Given the description of an element on the screen output the (x, y) to click on. 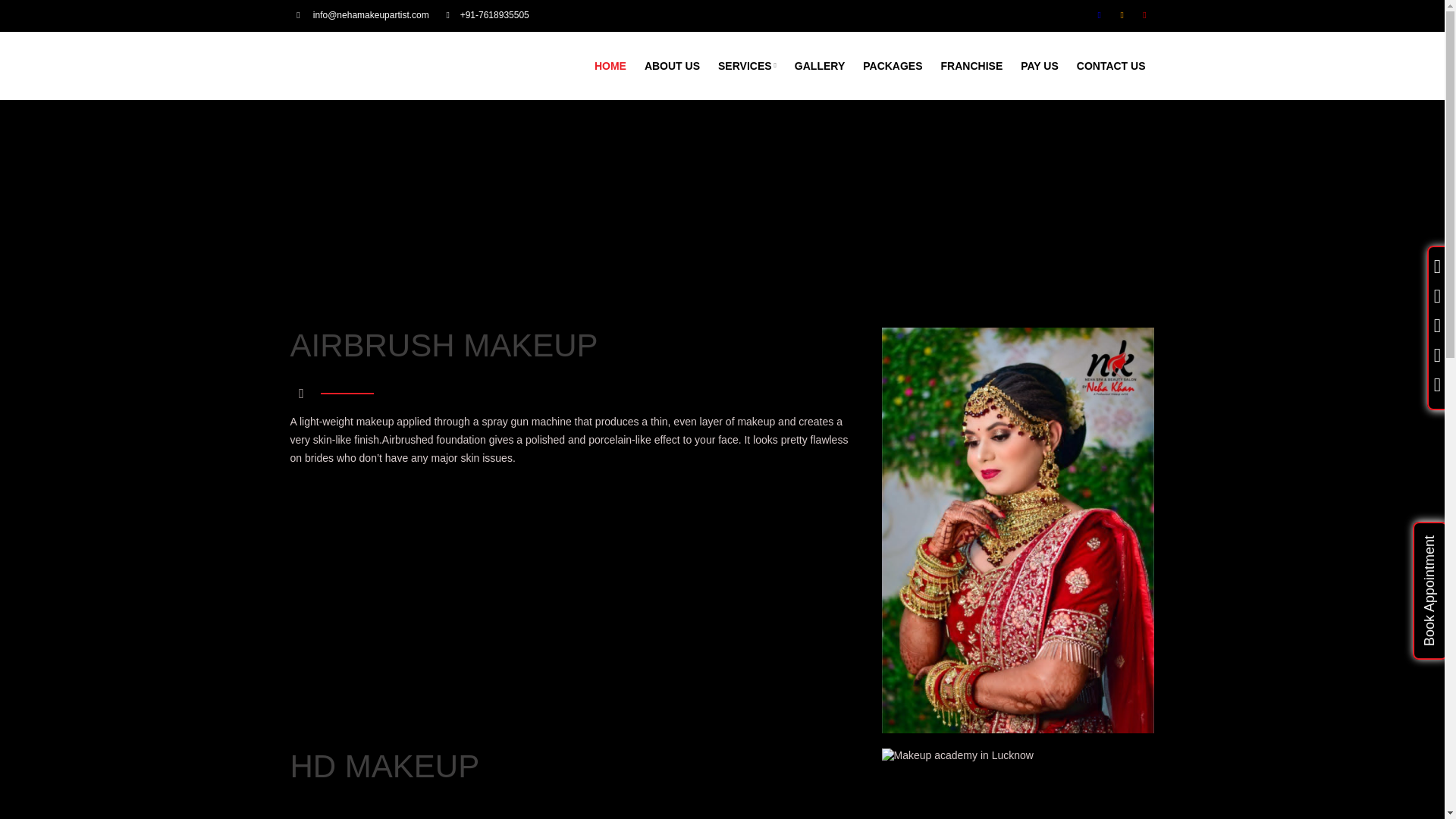
GALLERY (819, 65)
PACKAGES (892, 65)
FRANCHISE (971, 65)
CONTACT US (1110, 65)
ABOUT US (671, 65)
SERVICES (747, 65)
